Given the description of an element on the screen output the (x, y) to click on. 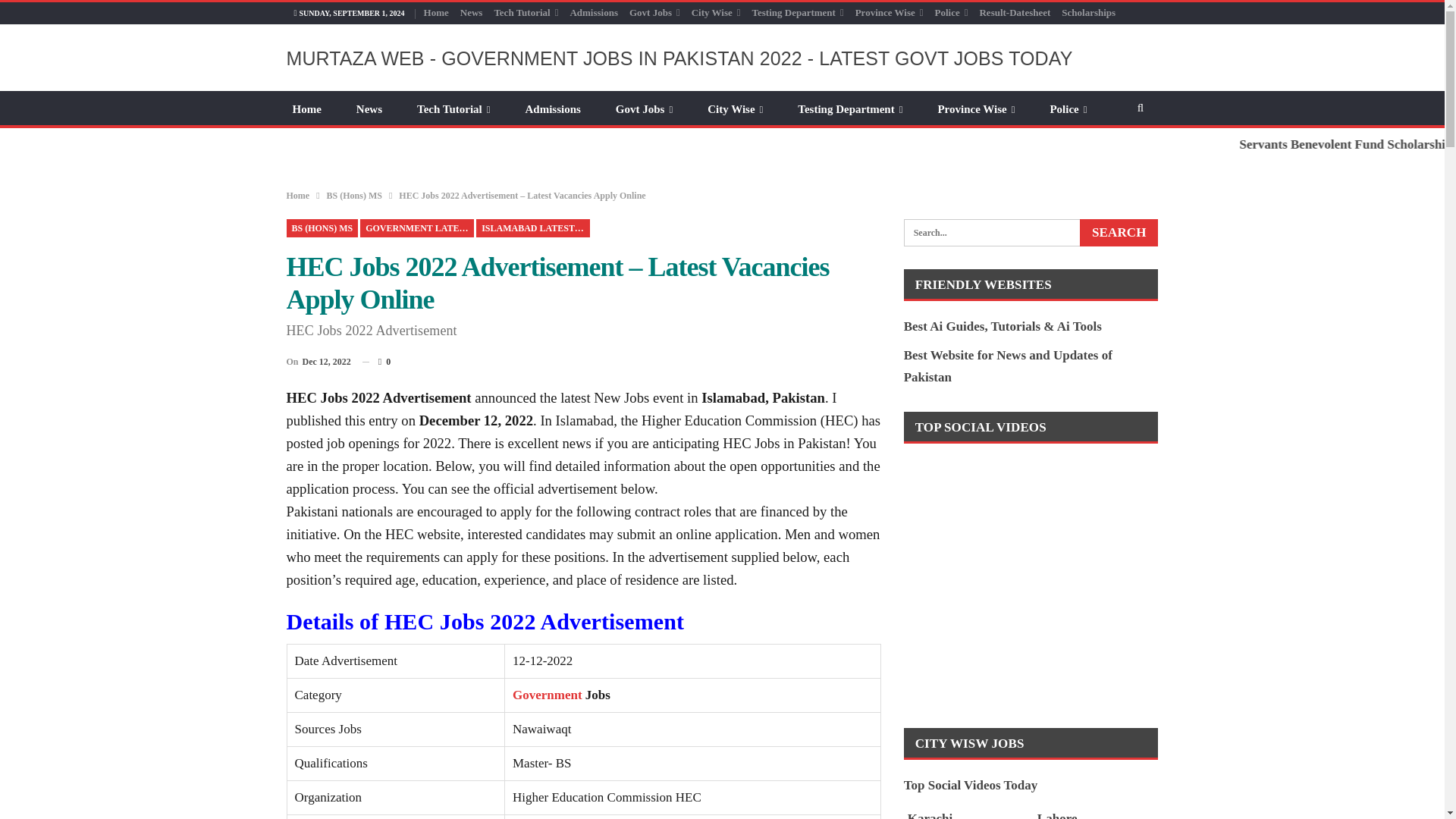
Search (1118, 232)
Home (435, 12)
News (471, 12)
Admissions (593, 12)
Tech Tutorial (525, 12)
Search (1118, 232)
Govt Jobs (653, 12)
City Wise (716, 12)
